Given the description of an element on the screen output the (x, y) to click on. 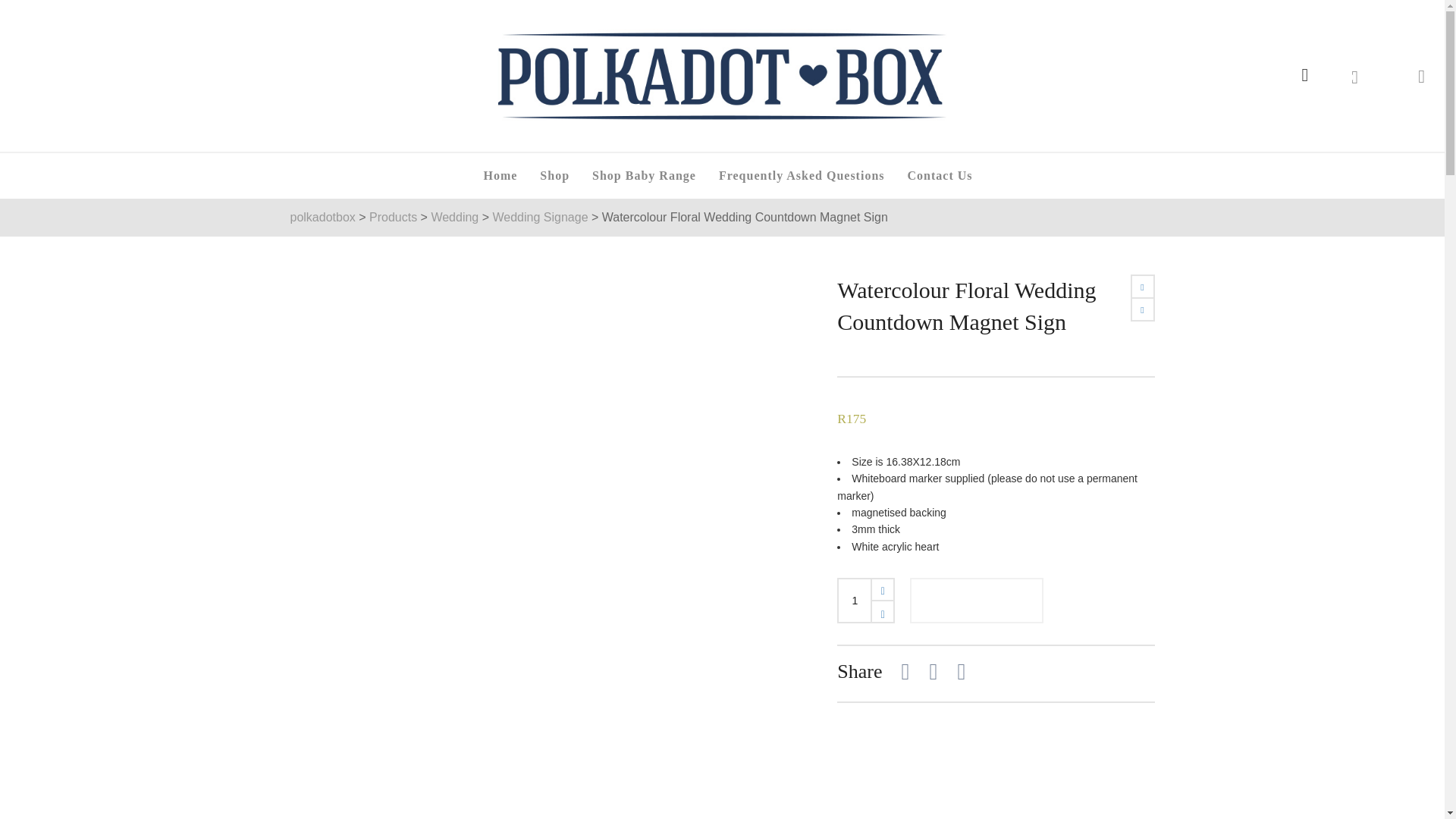
Go to polkadotbox. (322, 216)
Go to the Wedding Category archives. (454, 216)
Go to the Wedding Signage Category archives. (540, 216)
Go to Products. (392, 216)
